Given the description of an element on the screen output the (x, y) to click on. 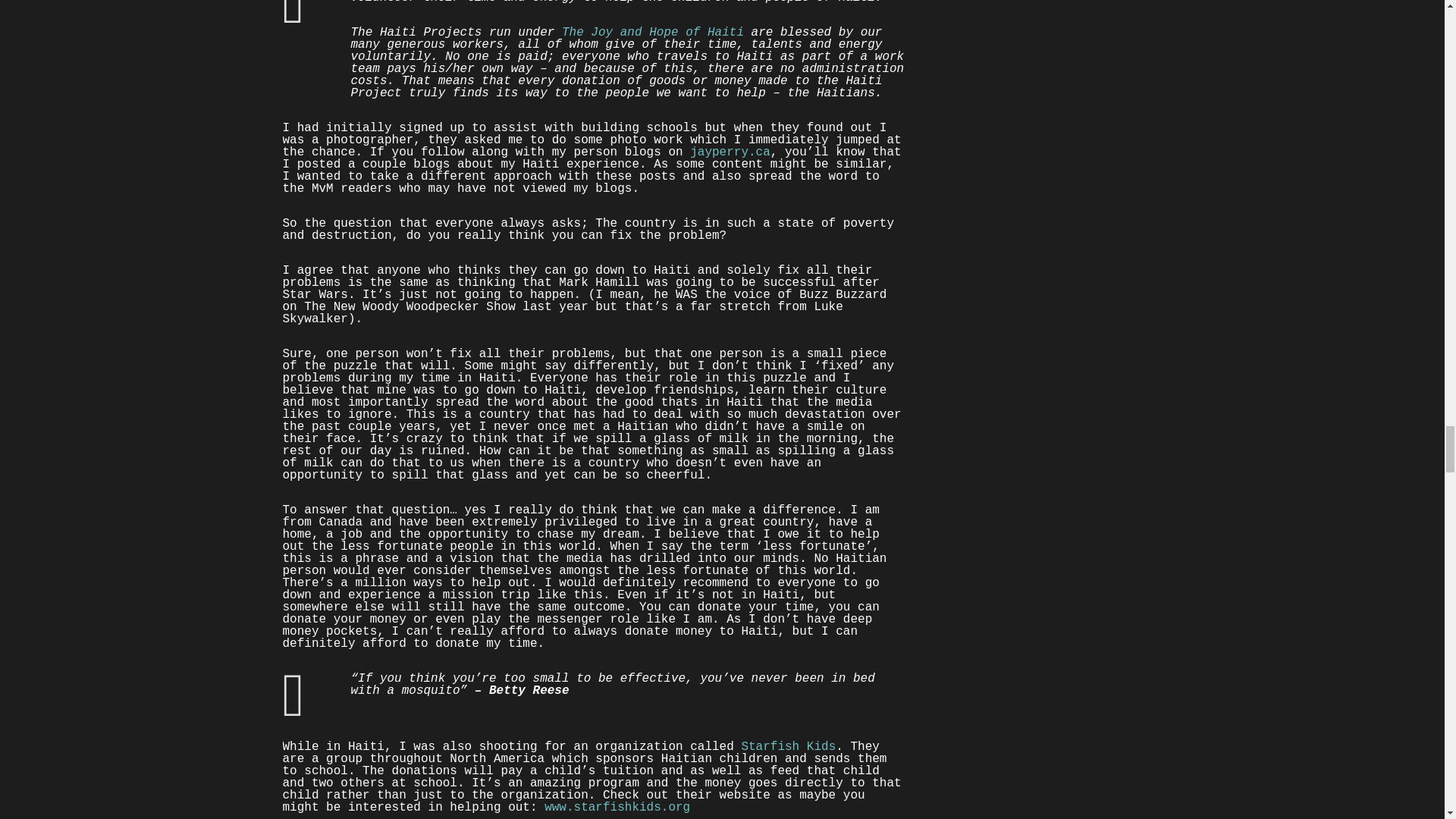
The Joy and Hope of Haiti (653, 32)
